Given the description of an element on the screen output the (x, y) to click on. 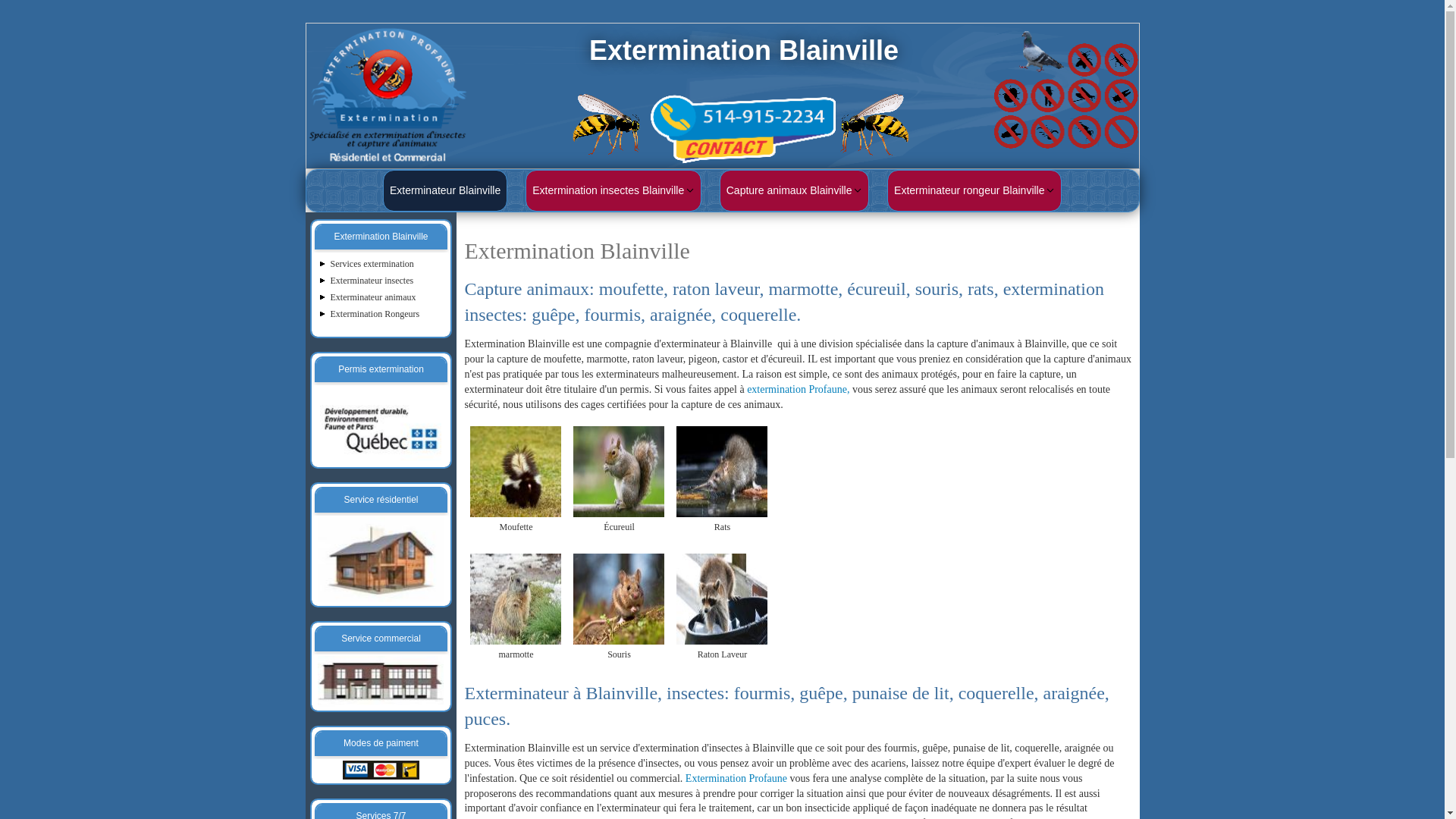
Extermination souris Element type: hover (618, 598)
Capture moufette Element type: hover (515, 471)
Extermination Rongeurs Element type: text (375, 313)
capture raton laveur Element type: hover (721, 597)
Extermination rats Element type: hover (721, 470)
Services extermination Element type: text (372, 263)
carte de credit Element type: hover (380, 769)
Extermination insectes Blainville Element type: text (613, 190)
Extermination Rats Element type: hover (721, 471)
Extermination souris Element type: hover (618, 597)
Extermination Profaune Element type: text (736, 778)
Exterminateur insectes Element type: text (372, 280)
capture marmotte Element type: hover (515, 598)
capture marmotte Element type: hover (515, 597)
Capture animaux Blainville Element type: text (794, 190)
Exterminateur rongeur Blainville Element type: text (974, 190)
Immeuble commercial Element type: hover (380, 680)
Capture moufette Element type: hover (515, 470)
Exterminateur Blainville Element type: text (444, 190)
extermination Profaune, Element type: text (797, 389)
Exterminateur animaux Element type: text (373, 296)
